Given the description of an element on the screen output the (x, y) to click on. 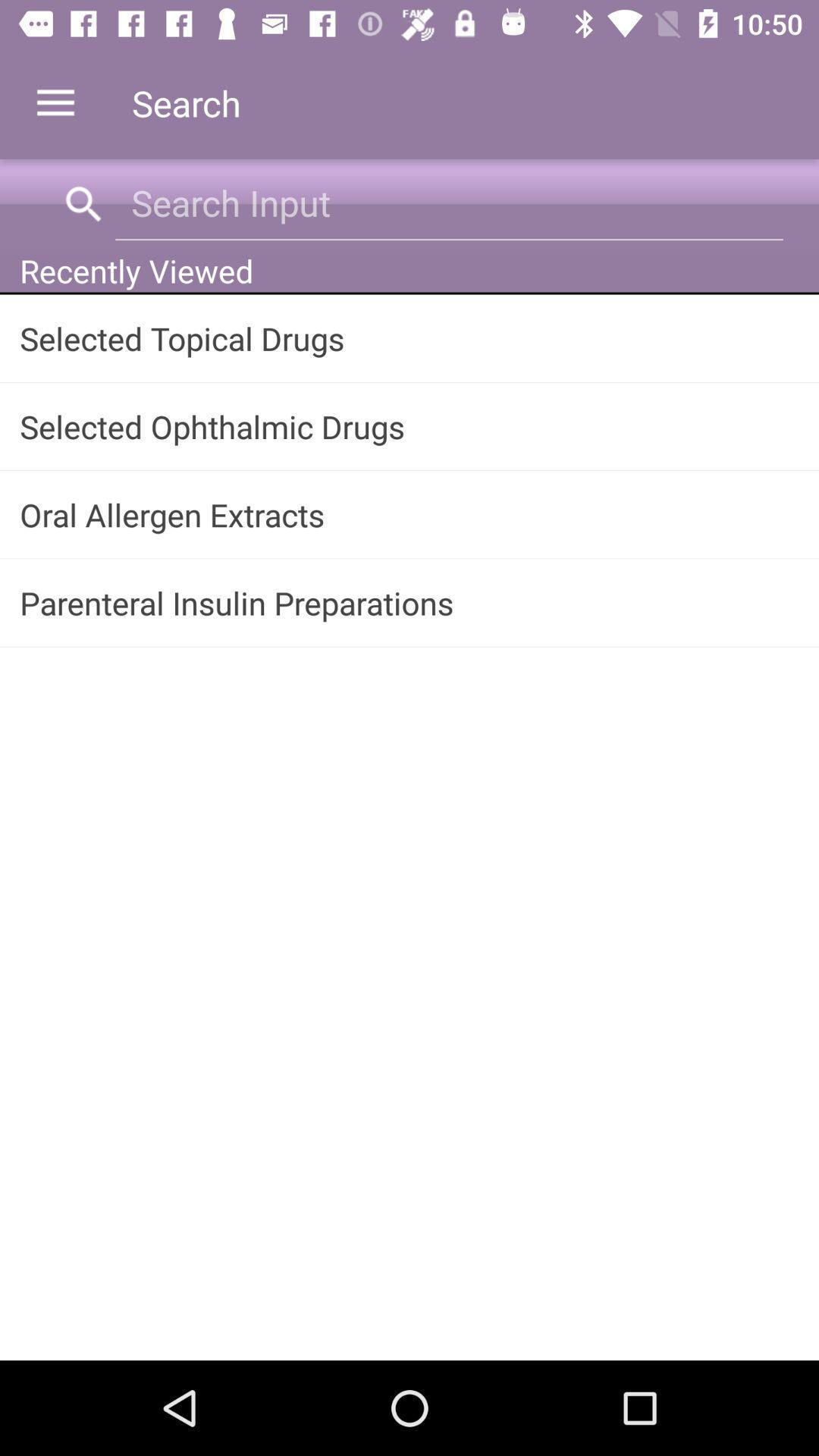
turn on the icon above the parenteral insulin preparations item (409, 514)
